Given the description of an element on the screen output the (x, y) to click on. 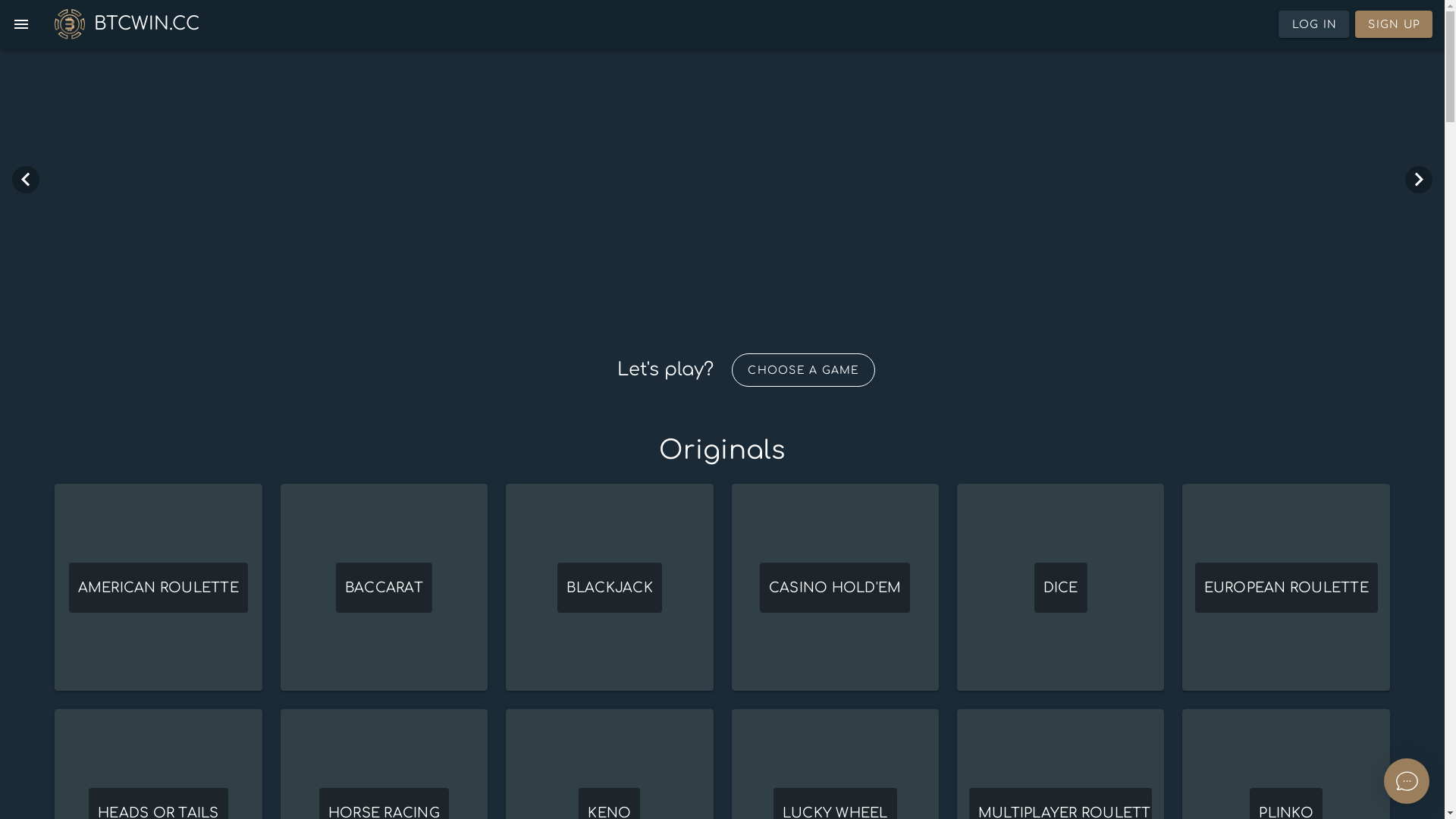
SIGN UP Element type: text (1394, 23)
LOG IN Element type: text (1316, 23)
